Given the description of an element on the screen output the (x, y) to click on. 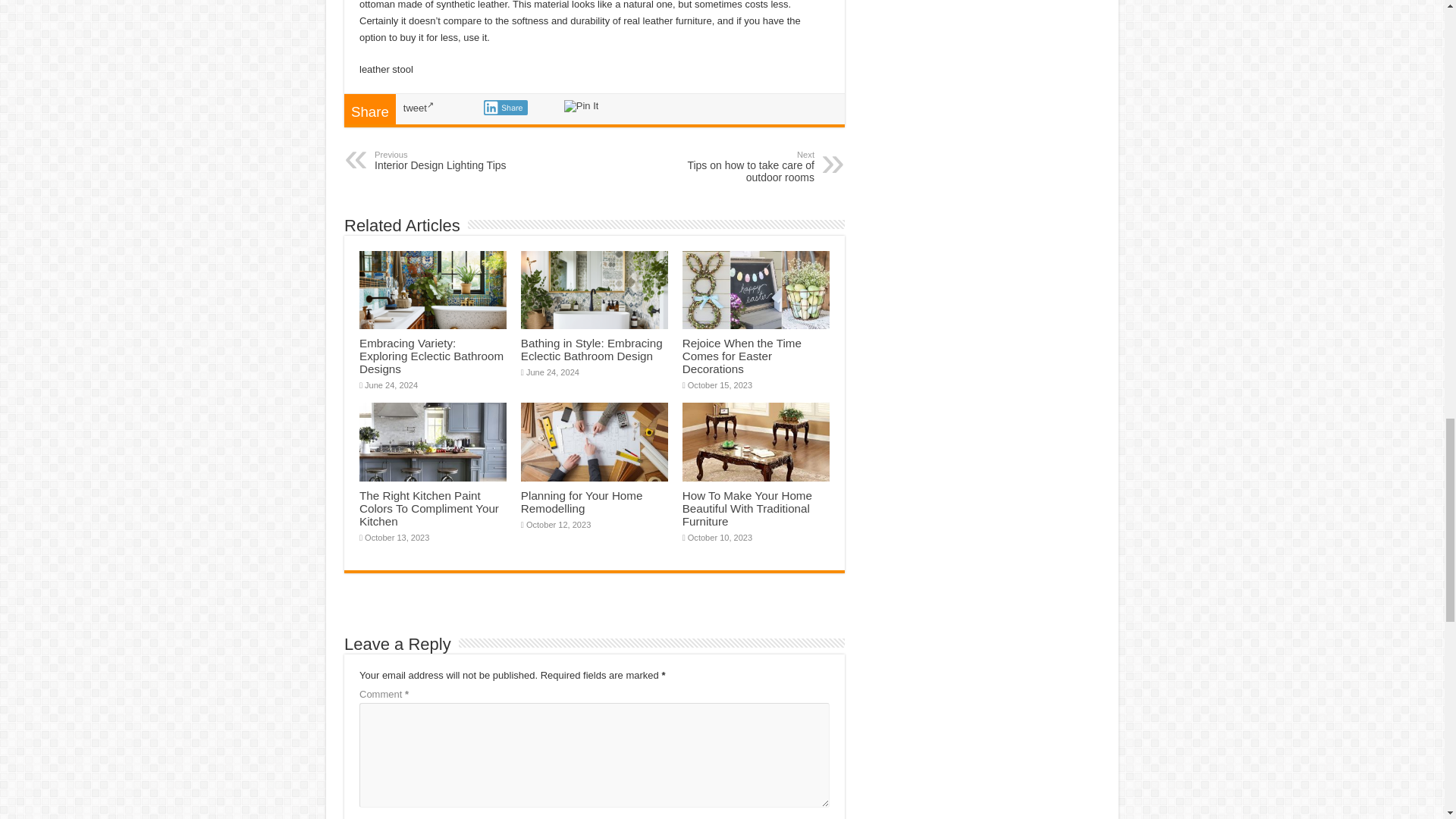
Rejoice When the Time Comes for Easter Decorations (451, 160)
Share (742, 355)
Pin It (736, 166)
tweet (505, 107)
Bathing in Style: Embracing Eclectic Bathroom Design (581, 105)
Embracing Variety: Exploring Eclectic Bathroom Designs (418, 107)
